Given the description of an element on the screen output the (x, y) to click on. 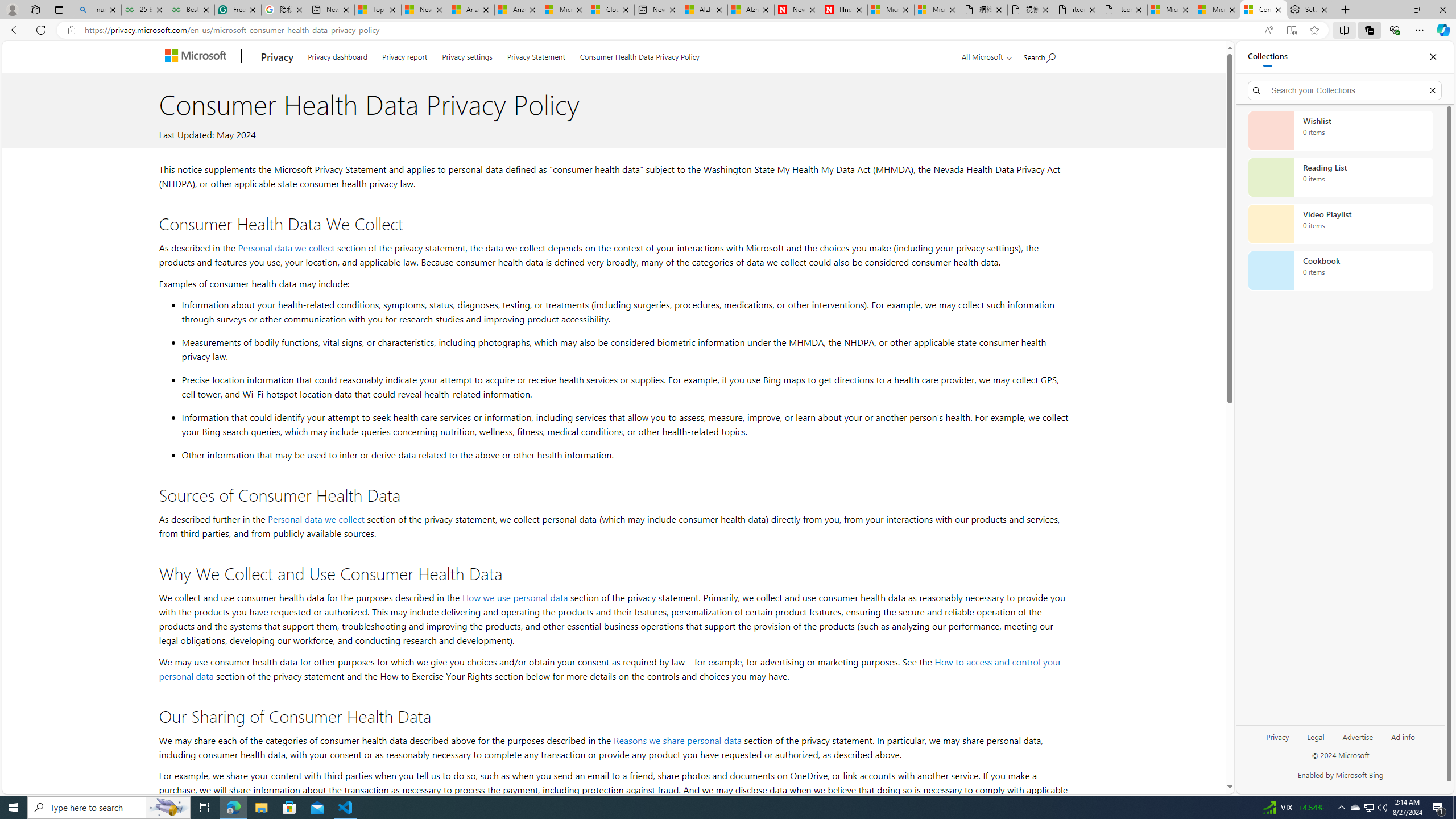
Privacy report (404, 54)
Free AI Writing Assistance for Students | Grammarly (237, 9)
Cloud Computing Services | Microsoft Azure (610, 9)
News - MSN (424, 9)
Legal (1315, 741)
Best SSL Certificates Provider in India - GeeksforGeeks (191, 9)
Consumer Health Data Privacy Policy (639, 54)
